Given the description of an element on the screen output the (x, y) to click on. 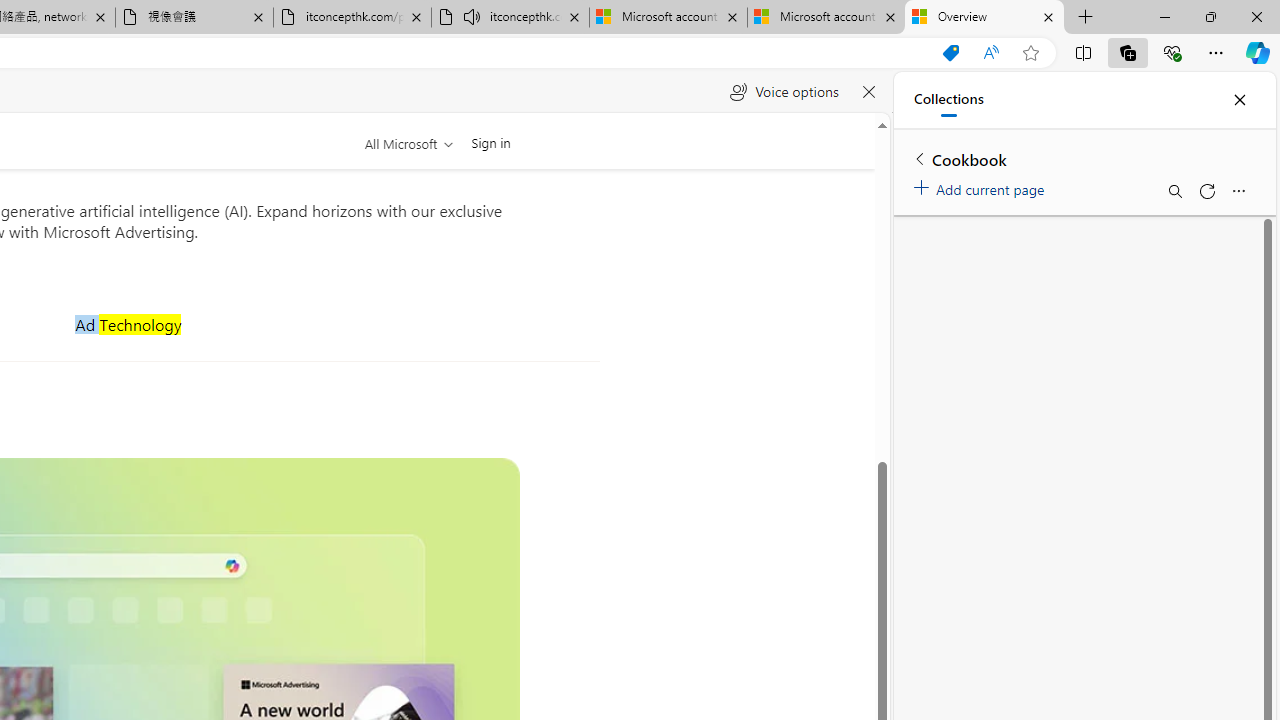
itconcepthk.com/projector_solutions.mp4 (352, 17)
Mute tab (471, 16)
itconcepthk.com/projector_solutions.mp4 - Audio playing (509, 17)
Overview (984, 17)
Add current page (982, 186)
Ad Technology (128, 324)
Sign in (490, 142)
Back to list of collections (920, 158)
Close read aloud (868, 92)
